Given the description of an element on the screen output the (x, y) to click on. 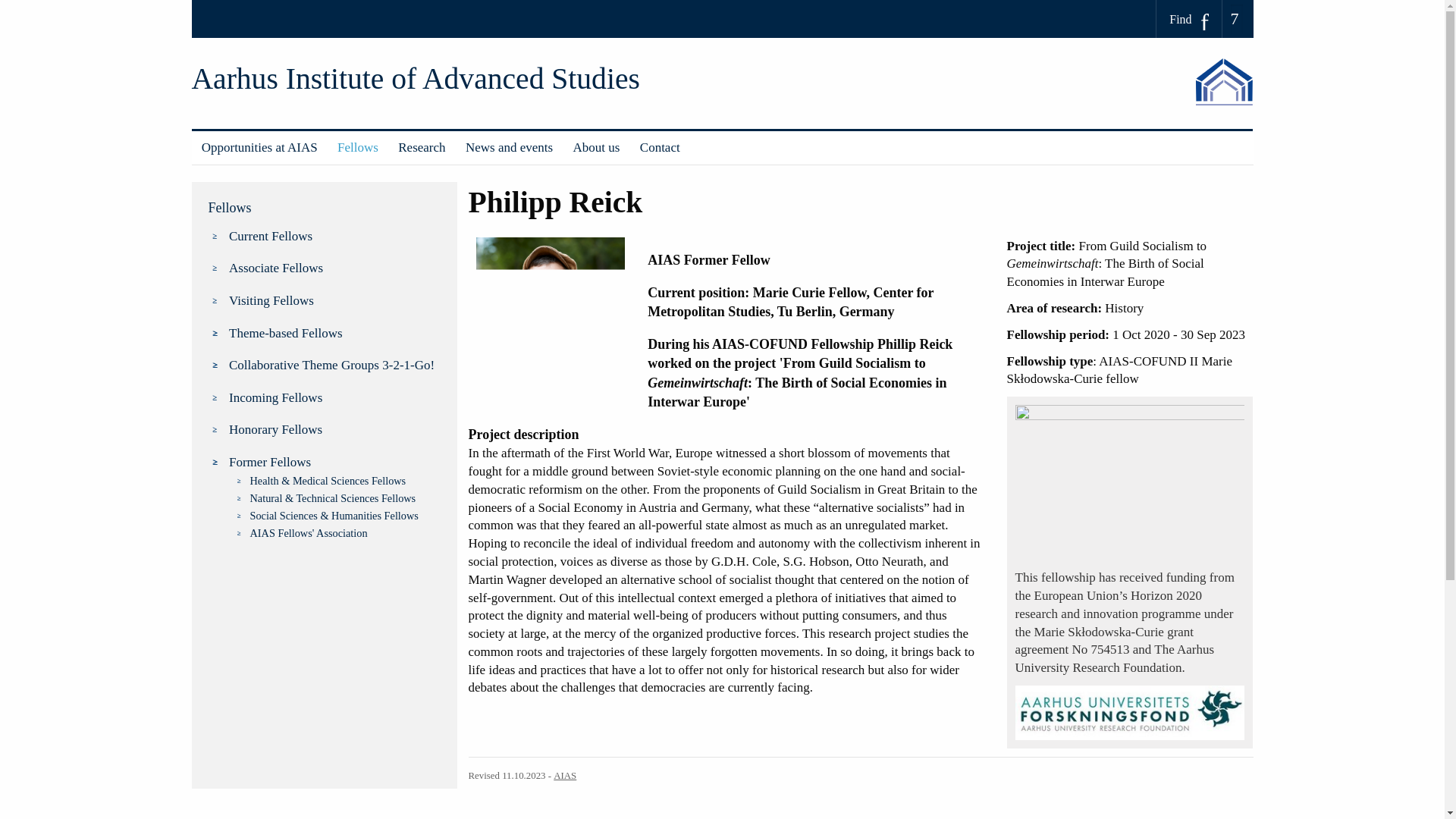
About us (595, 147)
Research (421, 147)
Opportunities at AIAS (258, 147)
Find (1189, 19)
Search (17, 5)
Aarhus Institute of Advanced Studies (414, 78)
Fellows (357, 147)
News and events (509, 147)
